Given the description of an element on the screen output the (x, y) to click on. 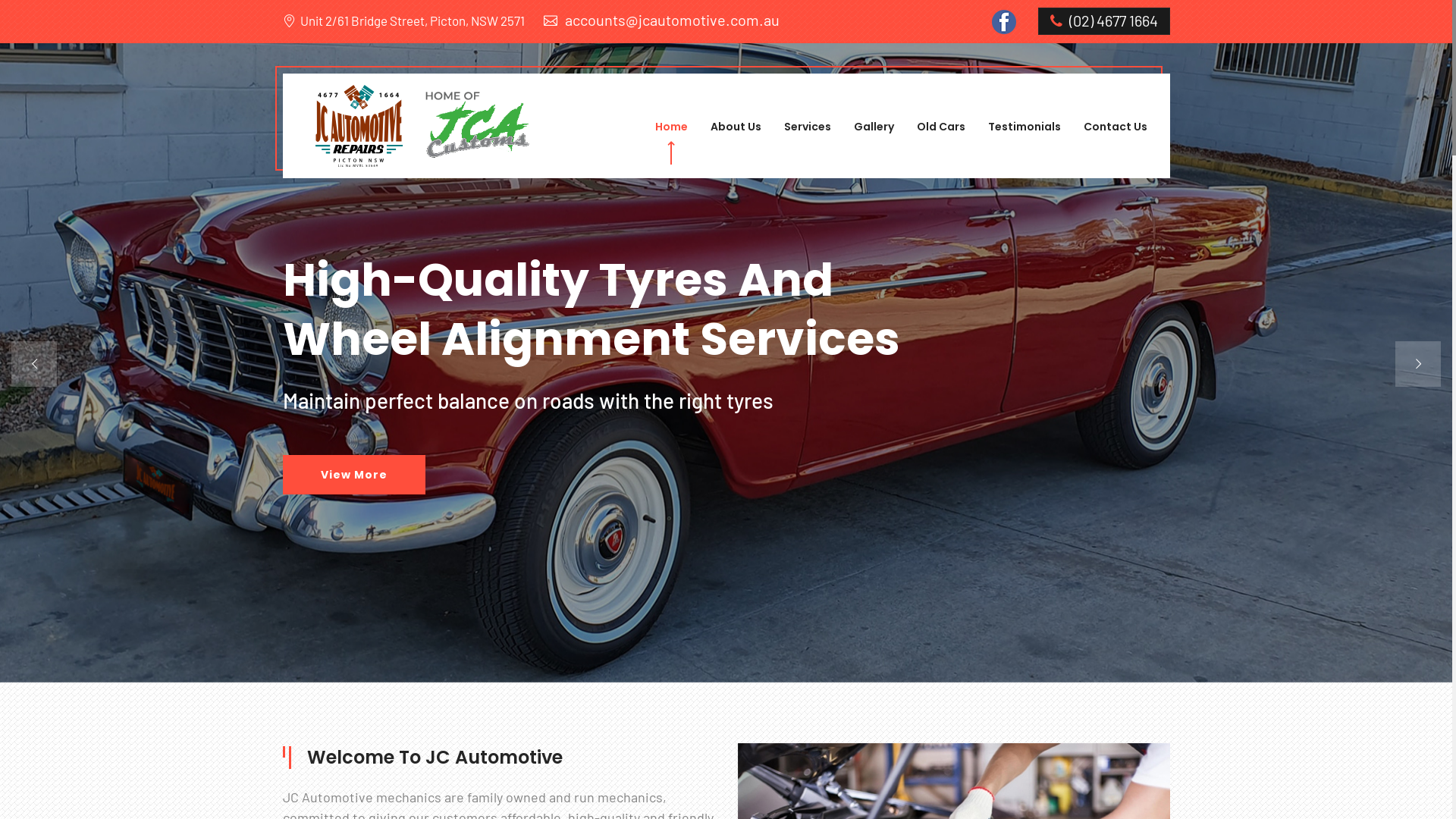
View More Element type: text (353, 519)
accounts@jcautomotive.com.au Element type: text (660, 19)
Services Element type: text (807, 126)
About Us Element type: text (734, 126)
Gallery Element type: text (873, 126)
Contact Us Element type: text (1114, 126)
Old Cars Element type: text (940, 126)
Testimonials Element type: text (1023, 126)
Home Element type: text (671, 126)
(02) 4677 1664 Element type: text (1103, 20)
